Given the description of an element on the screen output the (x, y) to click on. 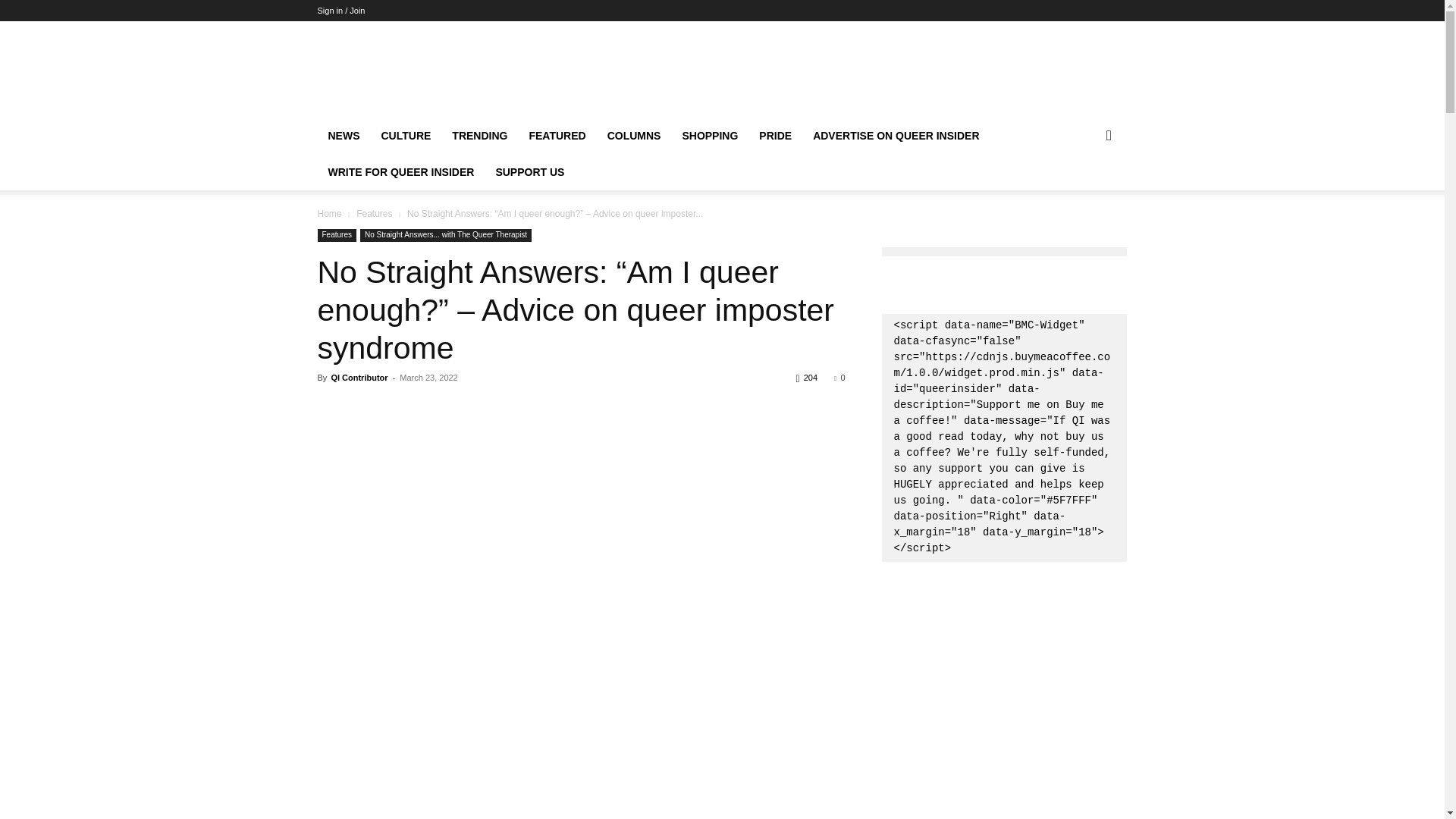
NEWS (343, 135)
View all posts in Features (373, 213)
